Given the description of an element on the screen output the (x, y) to click on. 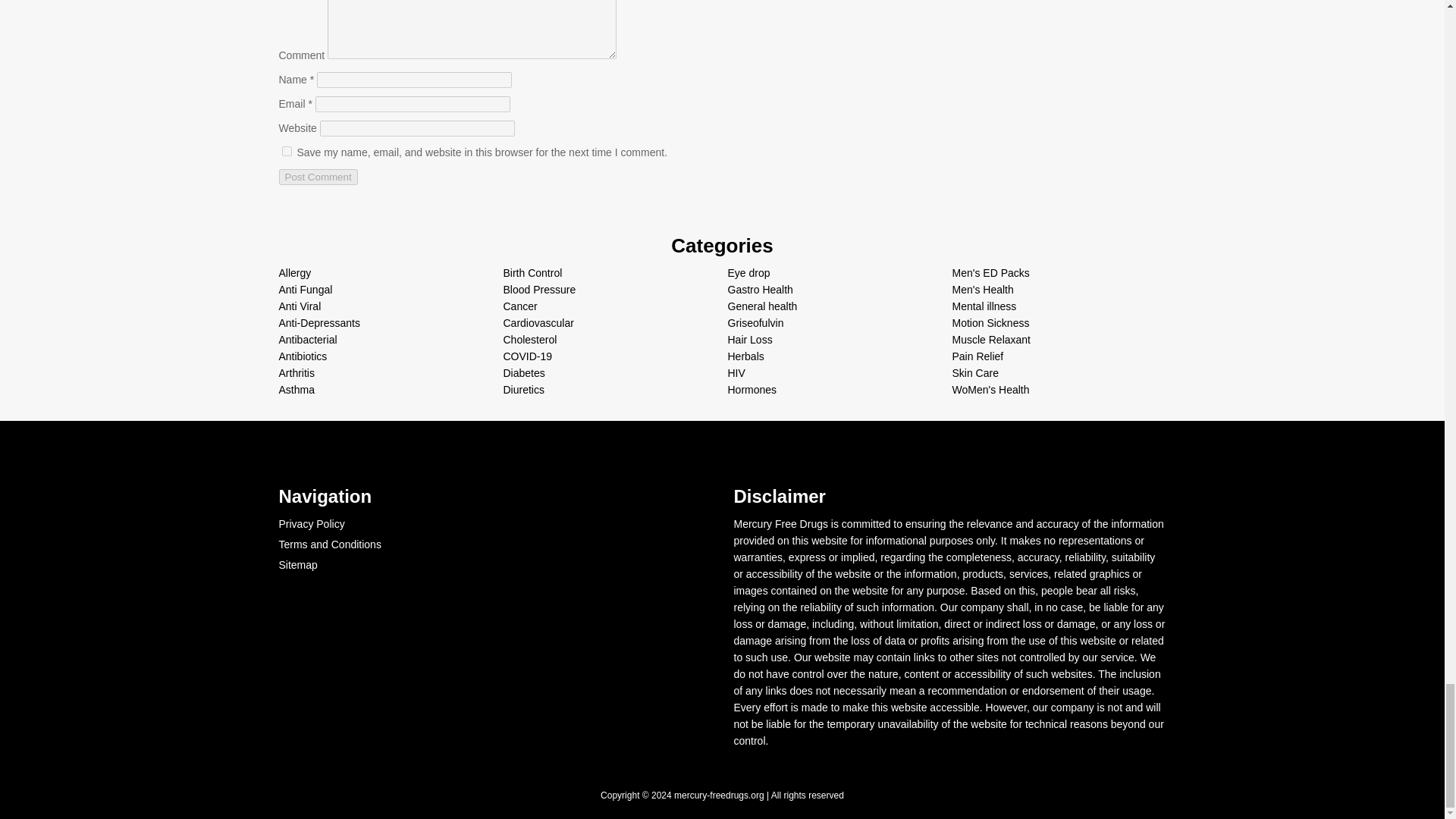
Eye drop (749, 272)
Cancer (520, 306)
Arthritis (296, 372)
Diuretics (523, 389)
Cholesterol (530, 339)
Birth Control (532, 272)
Asthma (296, 389)
Blood Pressure (539, 289)
Cardiovascular (538, 322)
COVID-19 (528, 356)
Anti Viral (300, 306)
Diabetes (523, 372)
Post Comment (318, 176)
Antibiotics (303, 356)
General health (762, 306)
